Given the description of an element on the screen output the (x, y) to click on. 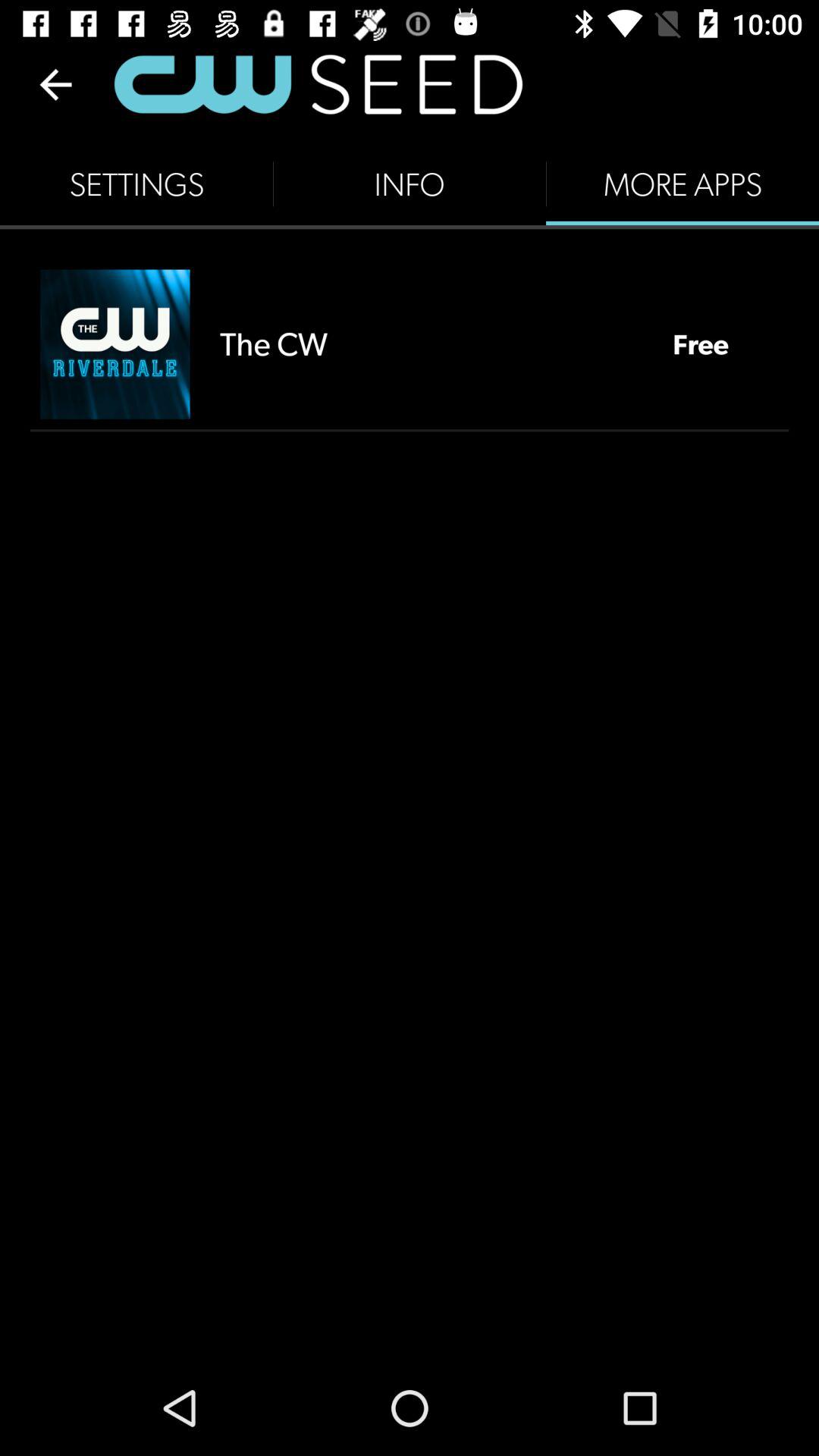
press the item to the left of more apps (409, 184)
